Given the description of an element on the screen output the (x, y) to click on. 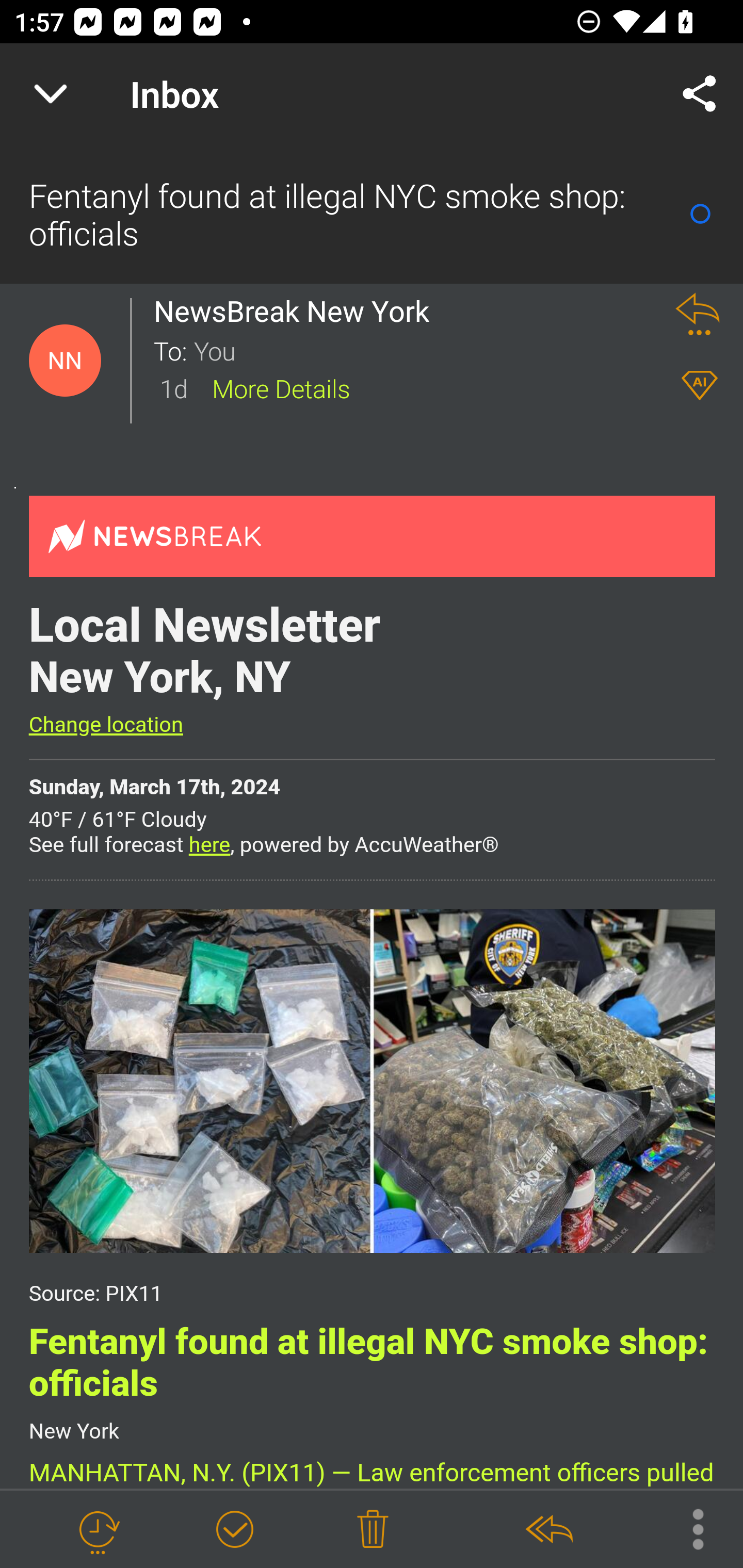
Navigate up (50, 93)
Share (699, 93)
NewsBreak New York (296, 310)
Contact Details (64, 360)
You (422, 349)
More Details (280, 387)
Change location (105, 724)
here (209, 845)
1 local news image (371, 1079)
Snooze (97, 1529)
Mark as Done (234, 1529)
Delete (372, 1529)
Reply All (548, 1529)
